Given the description of an element on the screen output the (x, y) to click on. 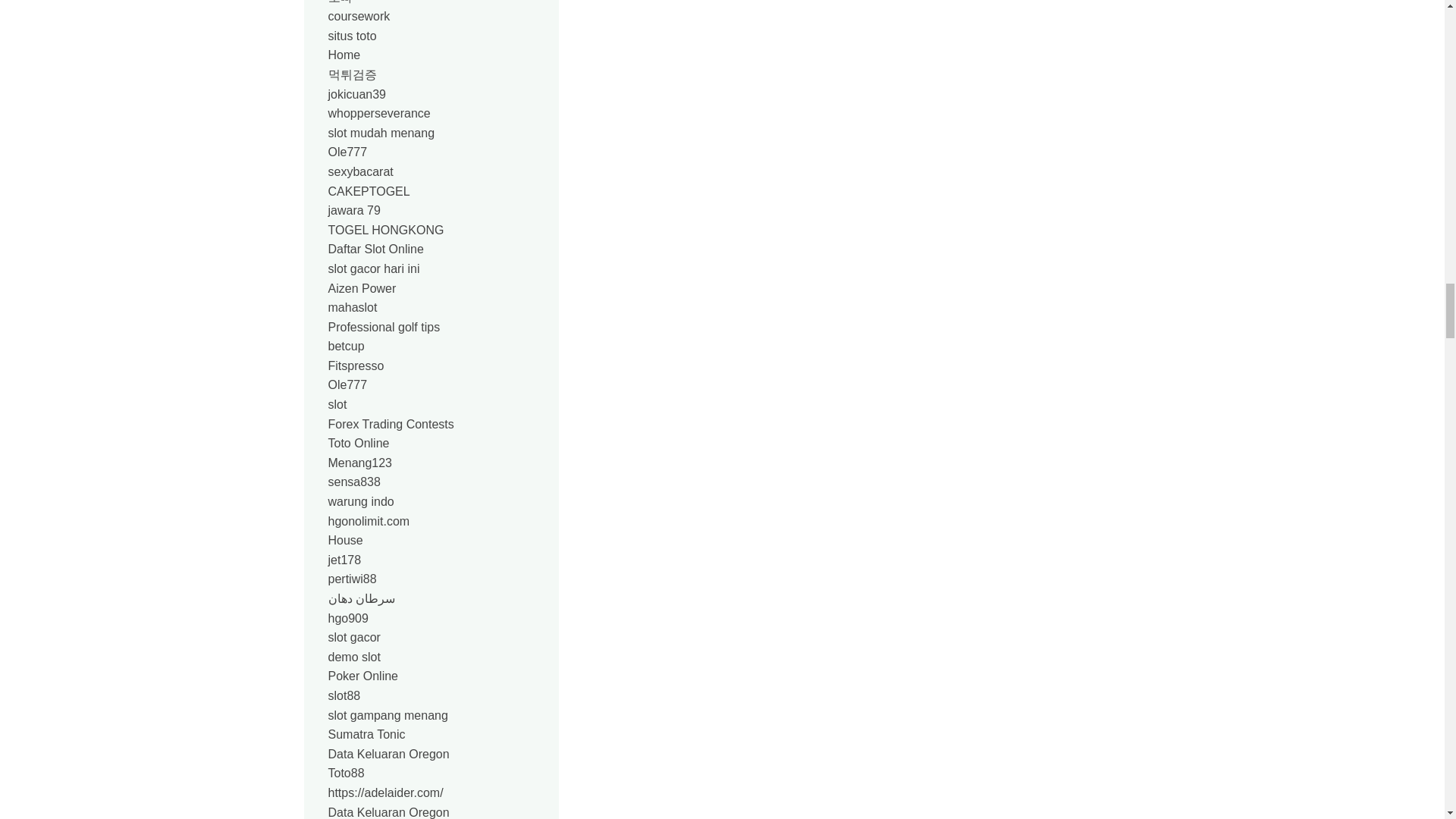
betcup (345, 345)
